Given the description of an element on the screen output the (x, y) to click on. 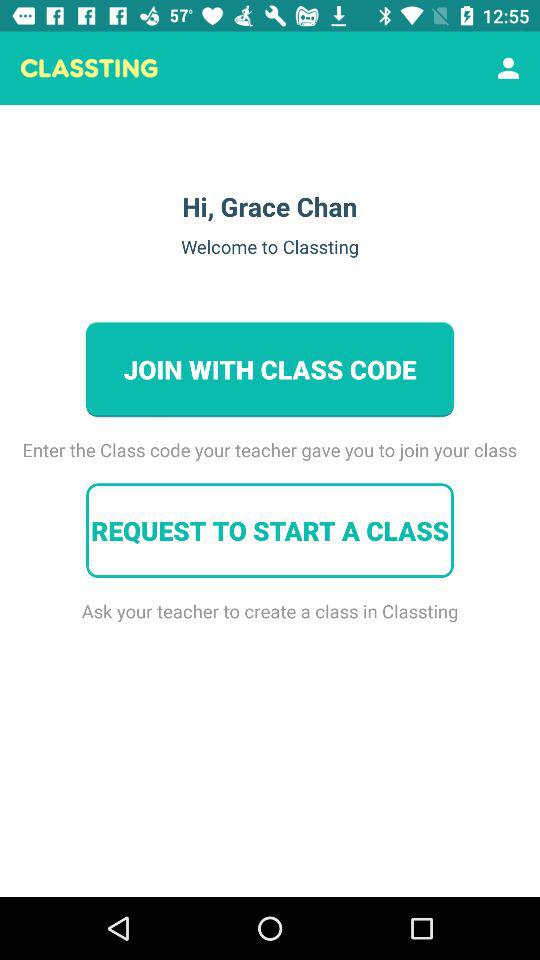
press the item below enter the class (269, 530)
